Given the description of an element on the screen output the (x, y) to click on. 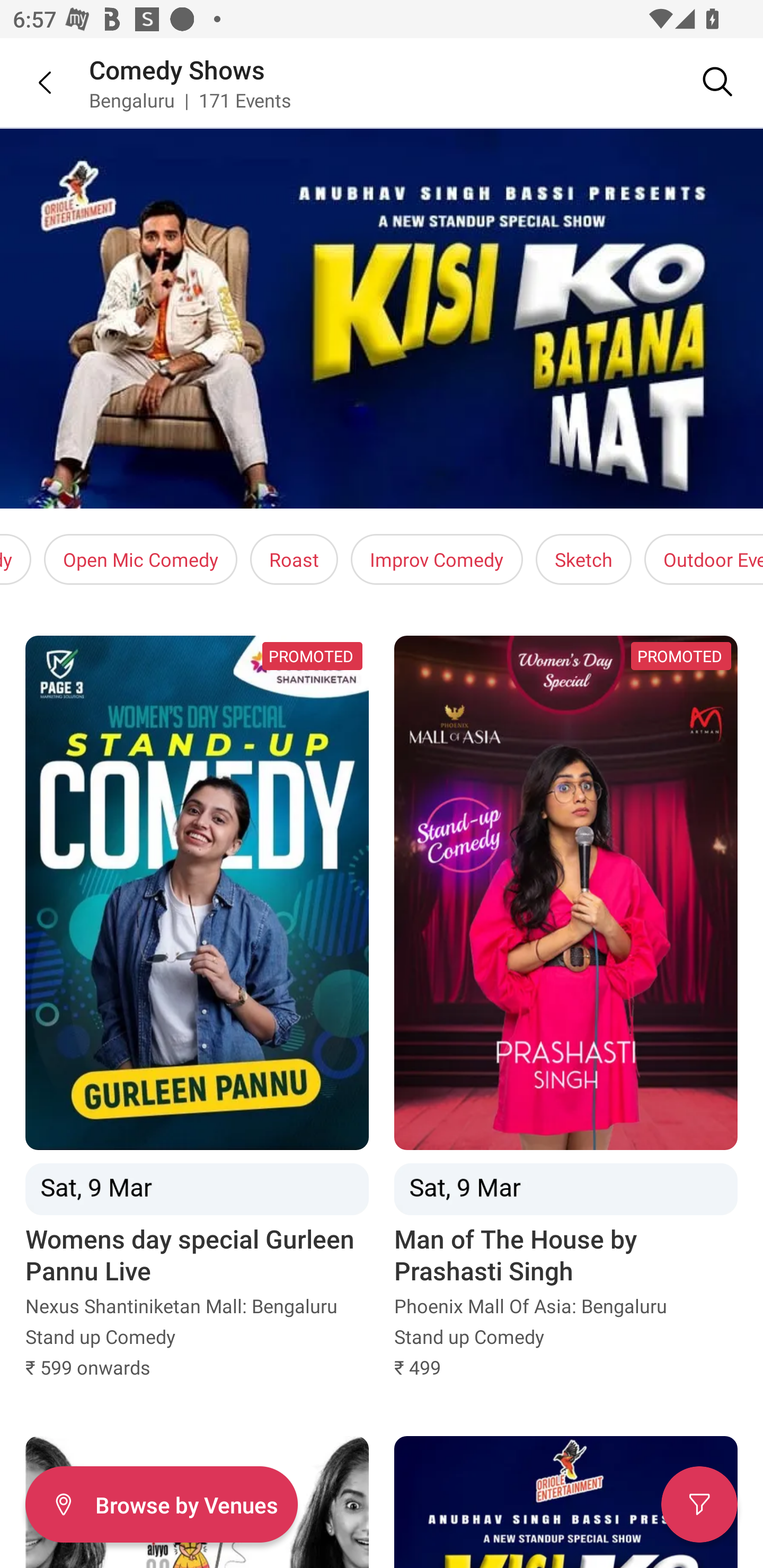
Back (31, 82)
Comedy Shows (176, 68)
Bengaluru  |  171 Events (190, 99)
Open Mic Comedy (140, 559)
Roast (294, 559)
Improv Comedy (436, 559)
Sketch (583, 559)
Filter Browse by Venues (161, 1504)
Filter (699, 1504)
